Given the description of an element on the screen output the (x, y) to click on. 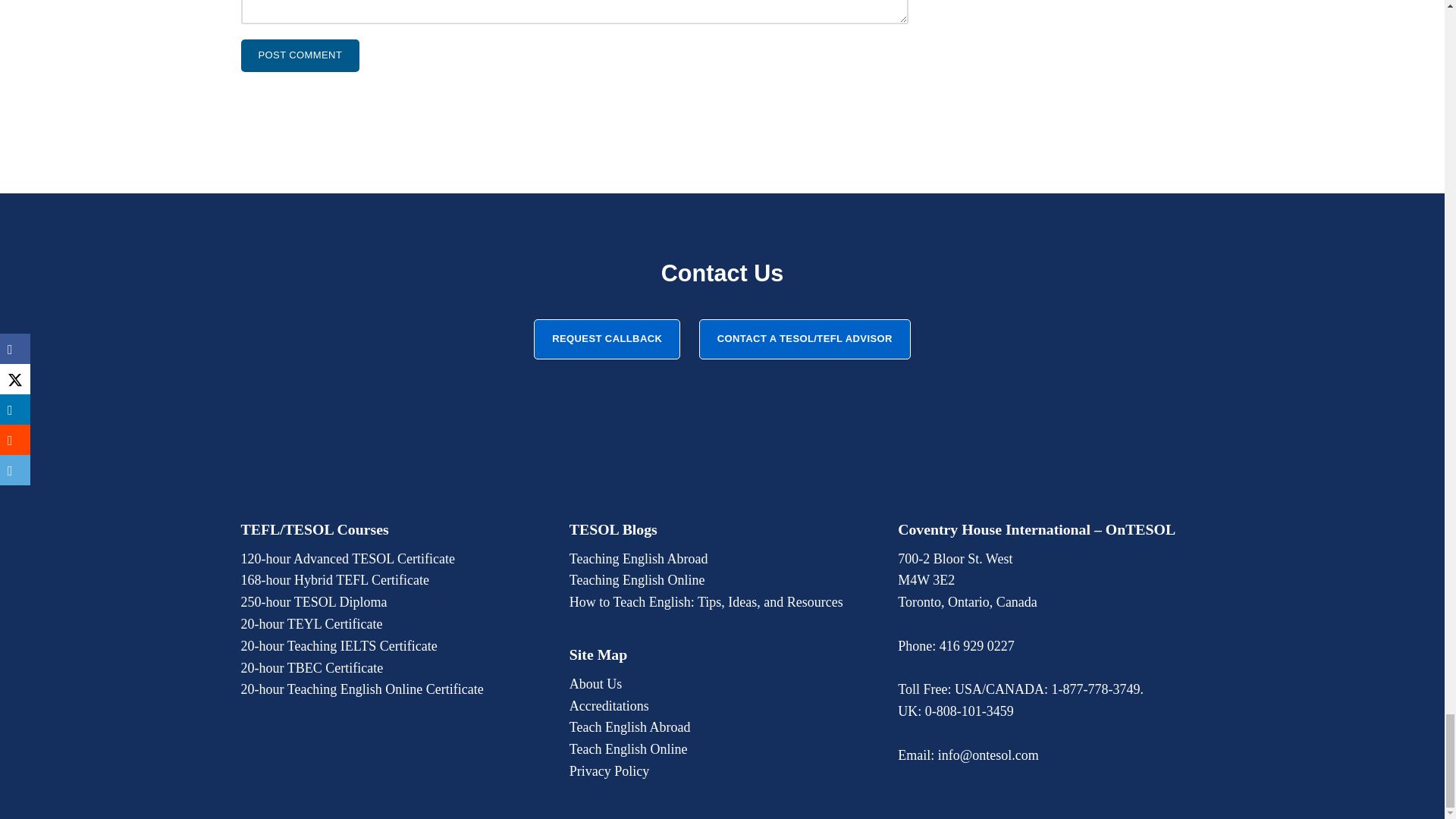
Post Comment (300, 55)
